Given the description of an element on the screen output the (x, y) to click on. 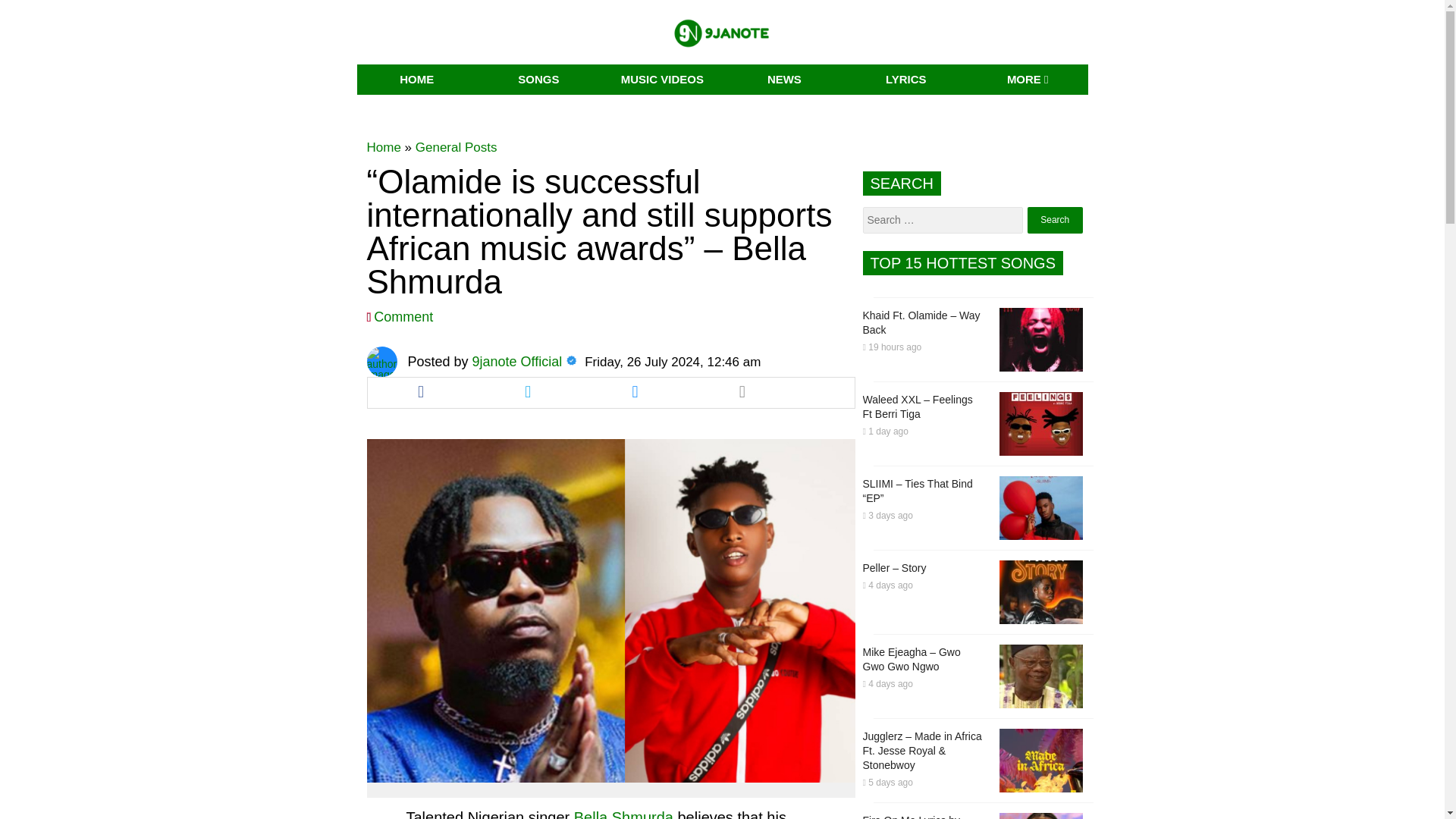
LYRICS (906, 79)
NEWS (783, 79)
Music Videos (662, 79)
MUSIC VIDEOS (662, 79)
Share this article via twitter (527, 392)
Search (1055, 220)
Songs (538, 79)
9janote Official (516, 361)
Home (383, 147)
Share this article via facebook (420, 392)
General Posts (455, 147)
More (1027, 79)
Home (416, 79)
Lyrics (906, 79)
HOME (416, 79)
